Given the description of an element on the screen output the (x, y) to click on. 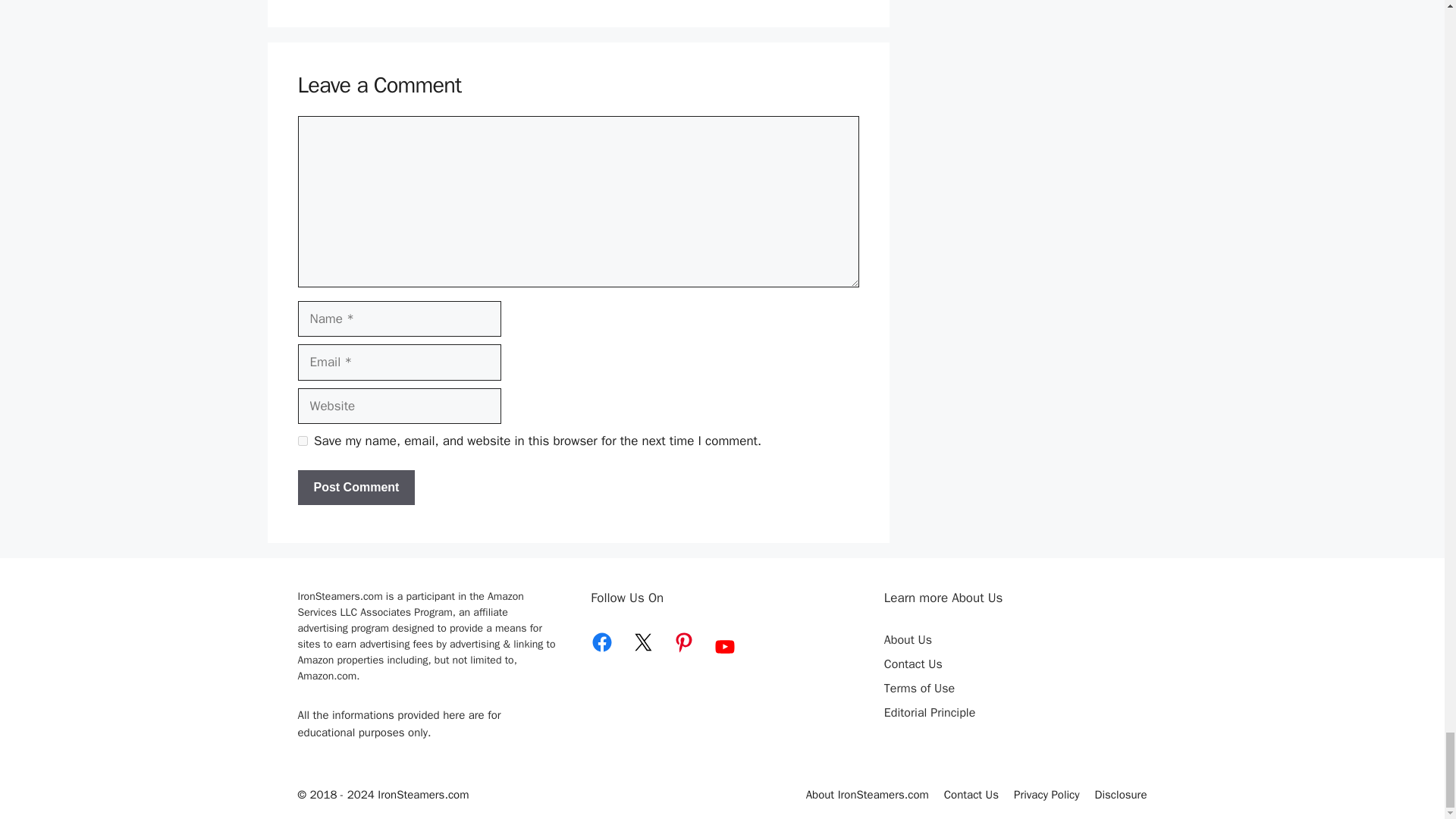
Pinterest (683, 641)
About IronSteamers.com (867, 794)
yes (302, 440)
YouTube (724, 646)
Facebook (601, 641)
Contact Us (970, 794)
Privacy Policy (1046, 794)
Post Comment (355, 487)
x (642, 641)
Disclosure (1120, 794)
